Given the description of an element on the screen output the (x, y) to click on. 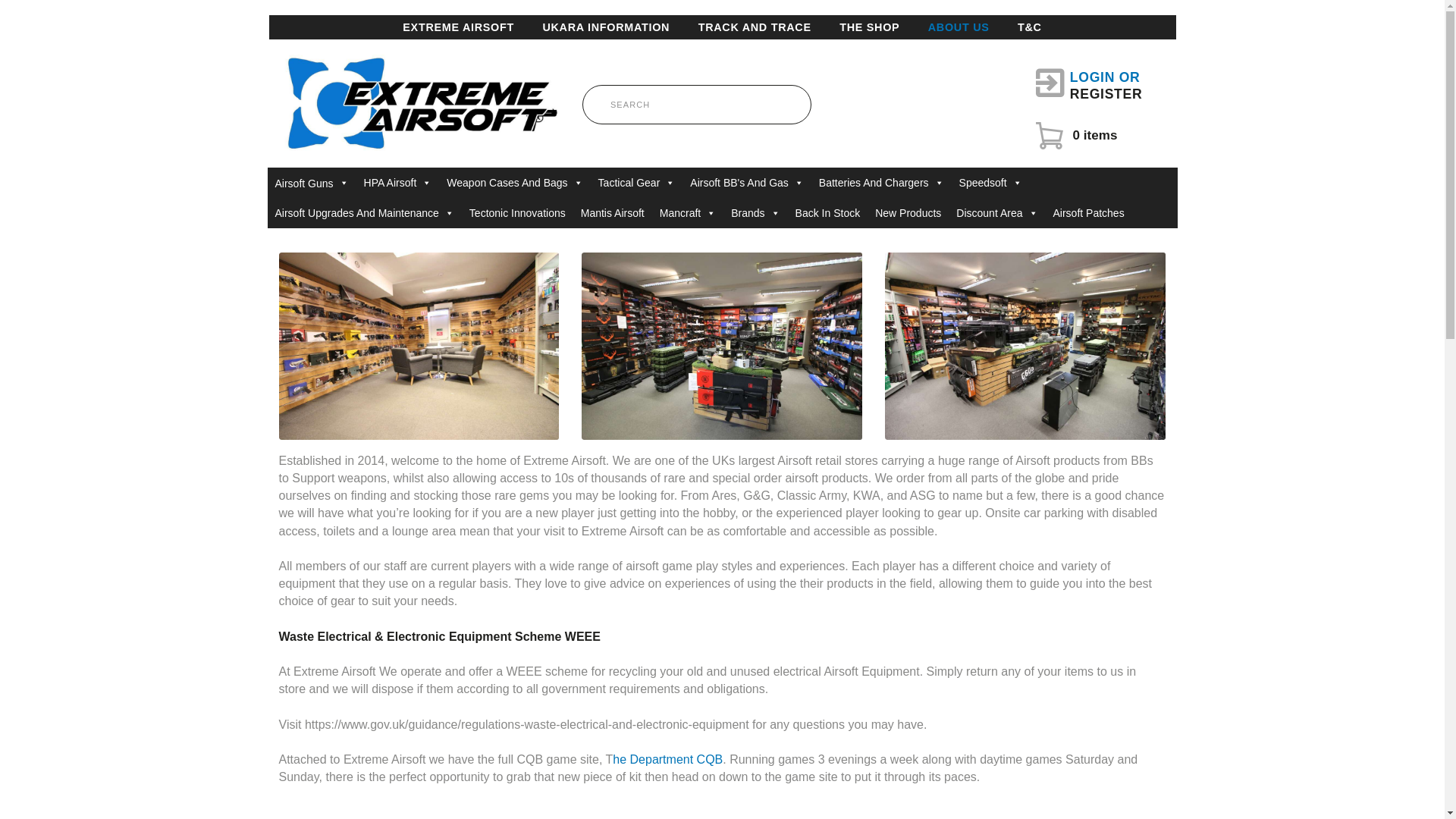
TRACK AND TRACE (754, 27)
ABOUT US (959, 27)
THE SHOP (869, 27)
EXTREME AIRSOFT (1088, 85)
UKARA INFORMATION (458, 27)
